Given the description of an element on the screen output the (x, y) to click on. 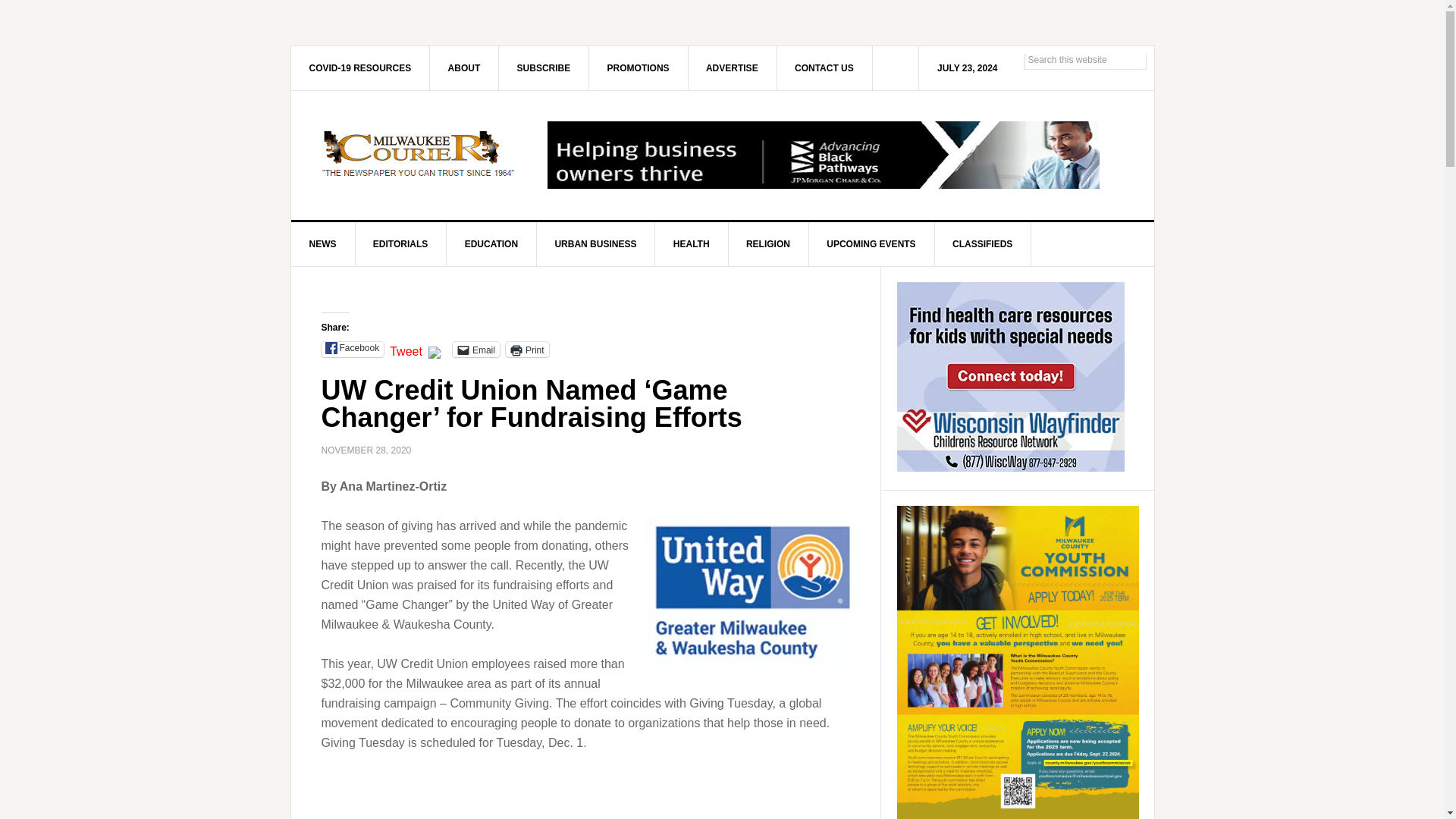
HEALTH (692, 243)
Click to share on Facebook (352, 349)
RELIGION (768, 243)
ADVERTISE (732, 67)
COVID-19 RESOURCES (360, 67)
Advertisement (584, 796)
UPCOMING EVENTS (871, 243)
CLASSIFIEDS (982, 243)
ABOUT (464, 67)
Search this website (1085, 59)
Click to print (526, 349)
PROMOTIONS (638, 67)
Print (526, 349)
Facebook (352, 349)
Search this website (1085, 59)
